Given the description of an element on the screen output the (x, y) to click on. 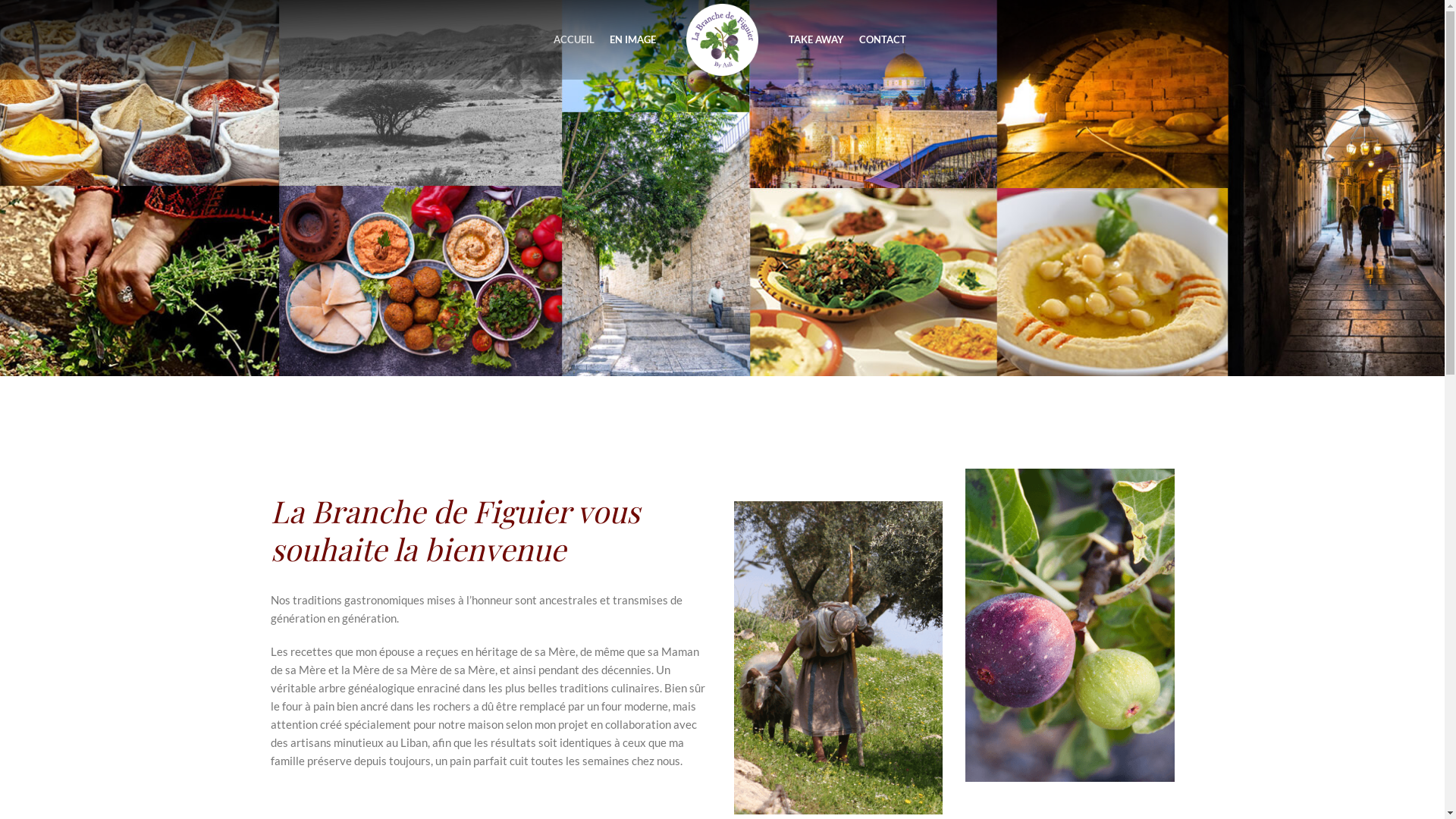
Take away Element type: text (911, 649)
RGPD Element type: text (748, 676)
Livraison Element type: text (755, 597)
EN IMAGE Element type: text (632, 39)
cuisine-du-sud Element type: hover (1069, 624)
Facebook Element type: text (1065, 597)
Instagram Element type: text (1065, 624)
Renonciation Element type: text (765, 649)
cuisine-familial Element type: hover (838, 657)
UX-W&D Element type: text (351, 794)
En image Element type: text (909, 624)
CONTACT Element type: text (882, 39)
ACCUEIL Element type: text (573, 39)
Accueil Element type: text (905, 597)
TAKE AWAY Element type: text (816, 39)
slider-01.1 Element type: hover (722, 188)
Contact Element type: text (1061, 649)
